Given the description of an element on the screen output the (x, y) to click on. 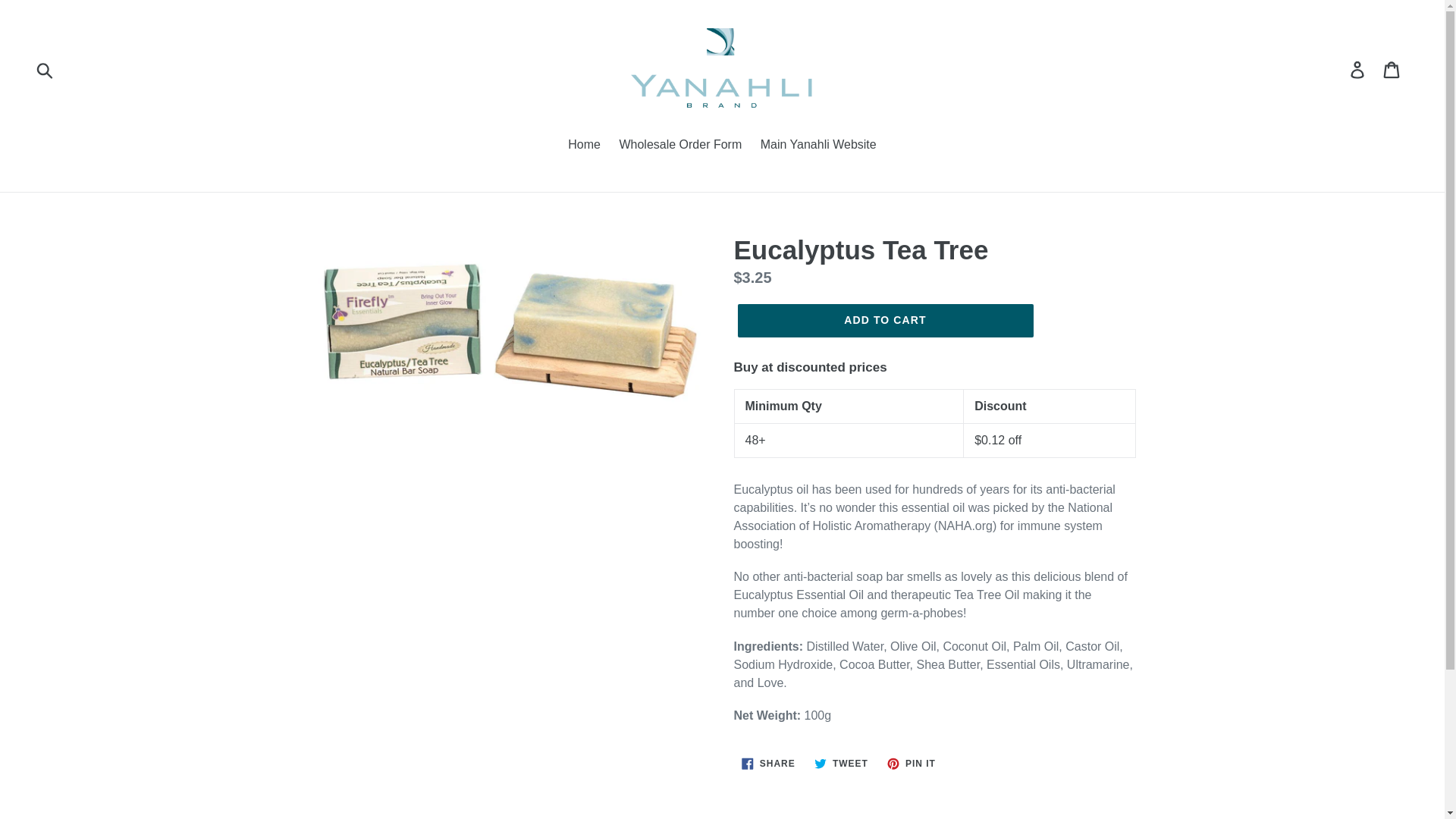
Cart (1392, 69)
Wholesale Order Form (680, 145)
Main Yanahli Website (817, 145)
Submit (768, 763)
Log in (911, 763)
ADD TO CART (45, 69)
Home (1357, 69)
